Given the description of an element on the screen output the (x, y) to click on. 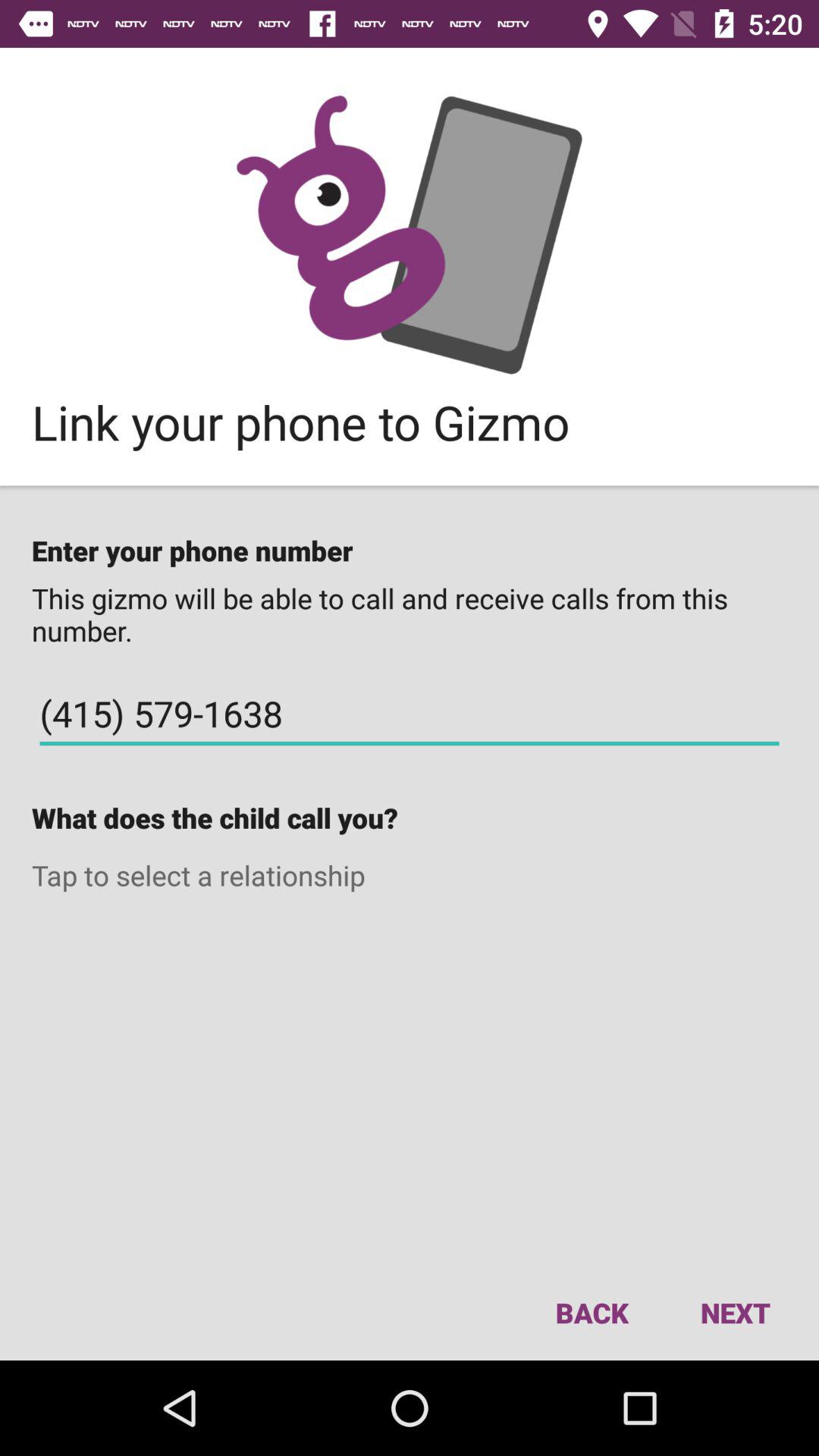
launch the back item (591, 1312)
